Given the description of an element on the screen output the (x, y) to click on. 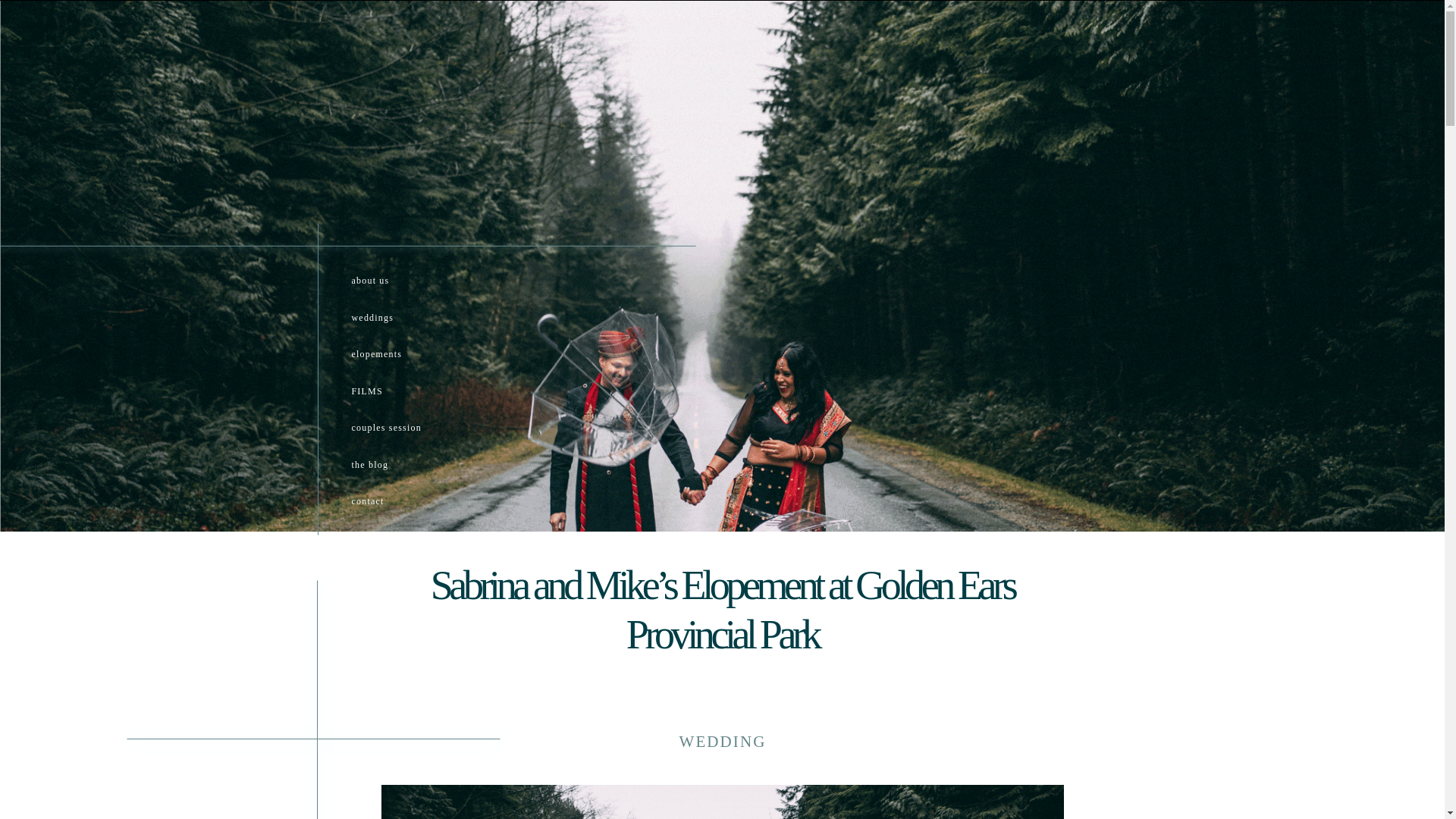
contact (422, 505)
couples session (422, 432)
weddings (411, 322)
about us (411, 284)
the blog (422, 469)
WEDDING (721, 741)
FILMS (422, 395)
elopements (411, 358)
